Given the description of an element on the screen output the (x, y) to click on. 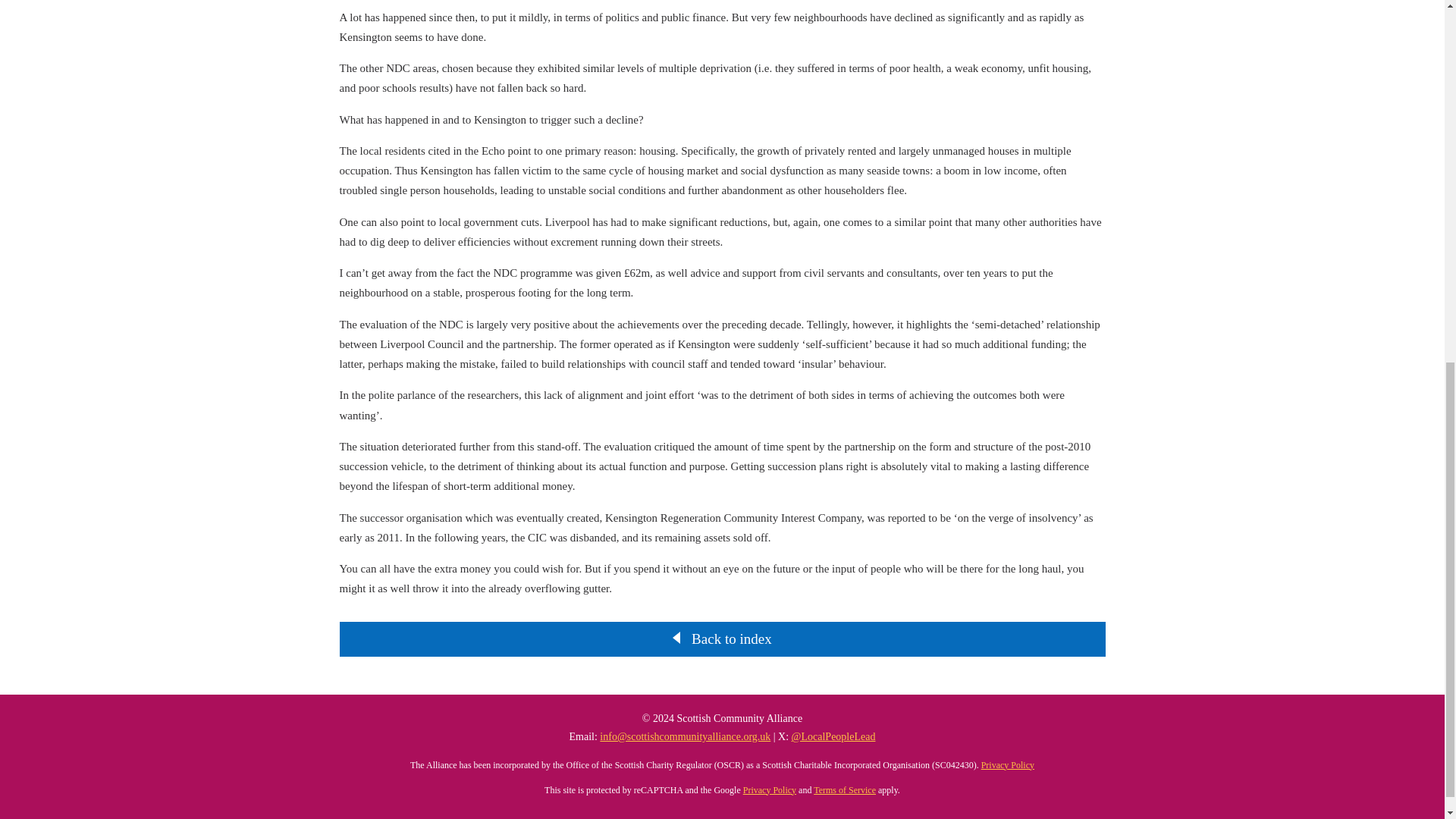
Back to index (731, 638)
